Given the description of an element on the screen output the (x, y) to click on. 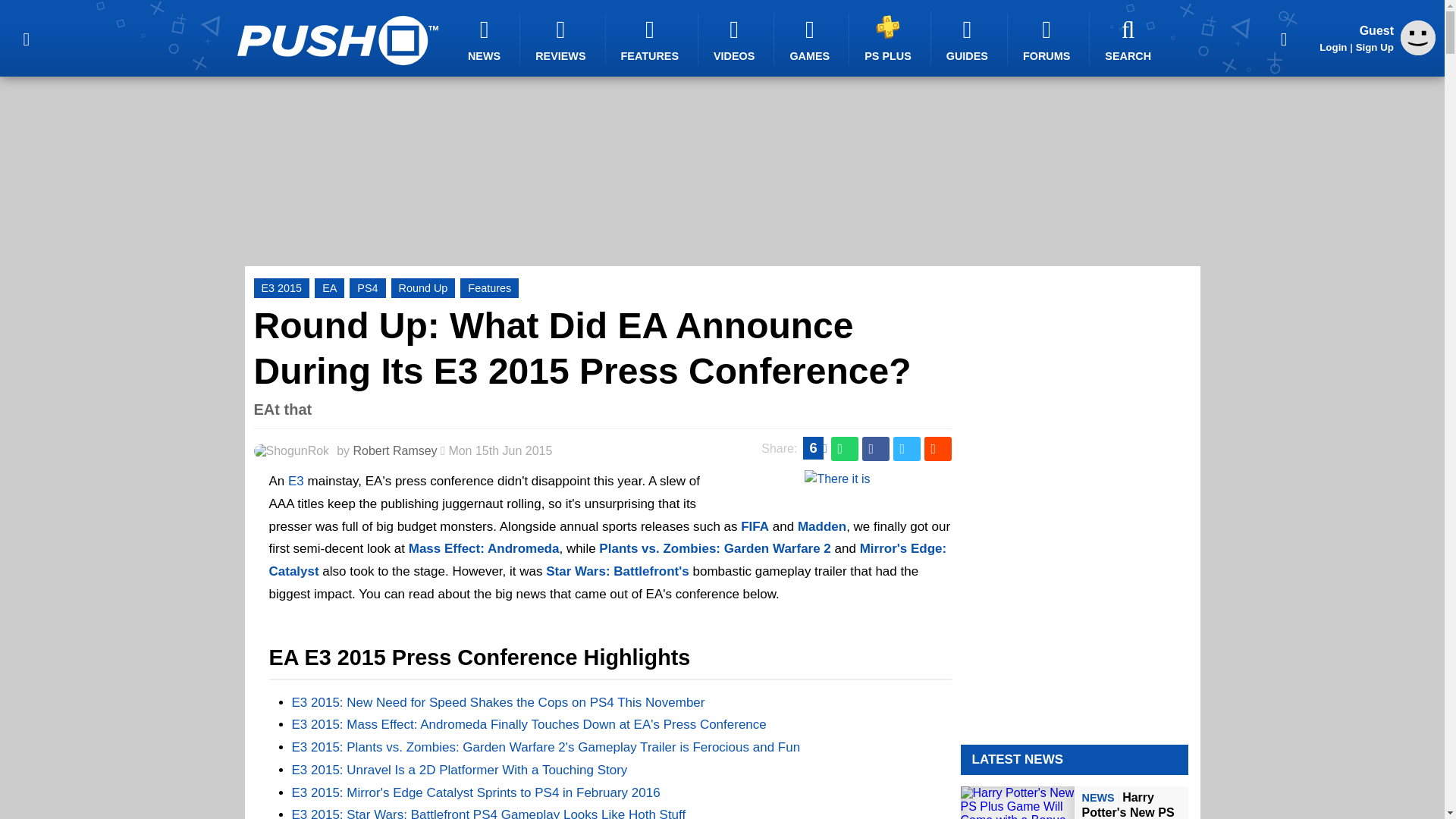
Share this on Reddit (936, 448)
GAMES (811, 39)
Robert Ramsey (394, 450)
Round Up (423, 288)
E3 2015 (280, 288)
Guest (1417, 37)
Features (489, 288)
EA (328, 288)
REVIEWS (562, 39)
Push Square (336, 40)
